Given the description of an element on the screen output the (x, y) to click on. 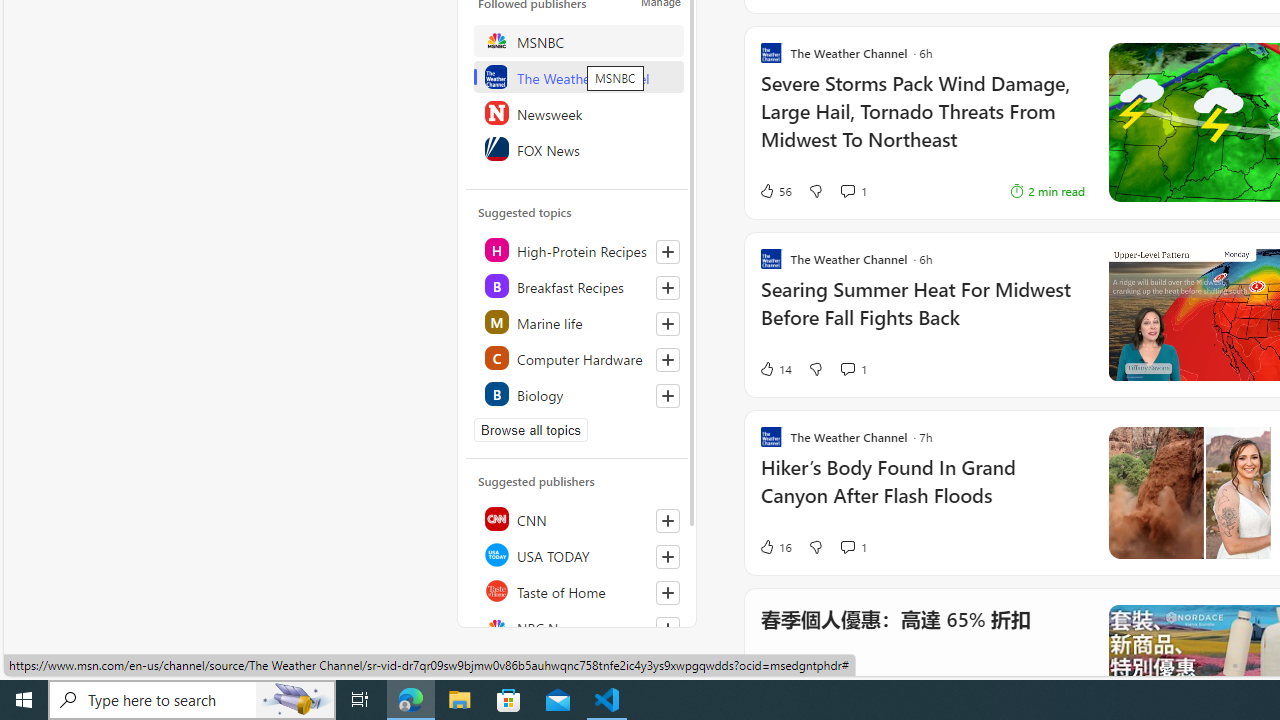
NBC News (578, 626)
16 Like (775, 546)
56 Like (775, 191)
The Weather Channel (578, 76)
Browse all topics (530, 430)
Searing Summer Heat For Midwest Before Fall Fights Back (922, 313)
